Given the description of an element on the screen output the (x, y) to click on. 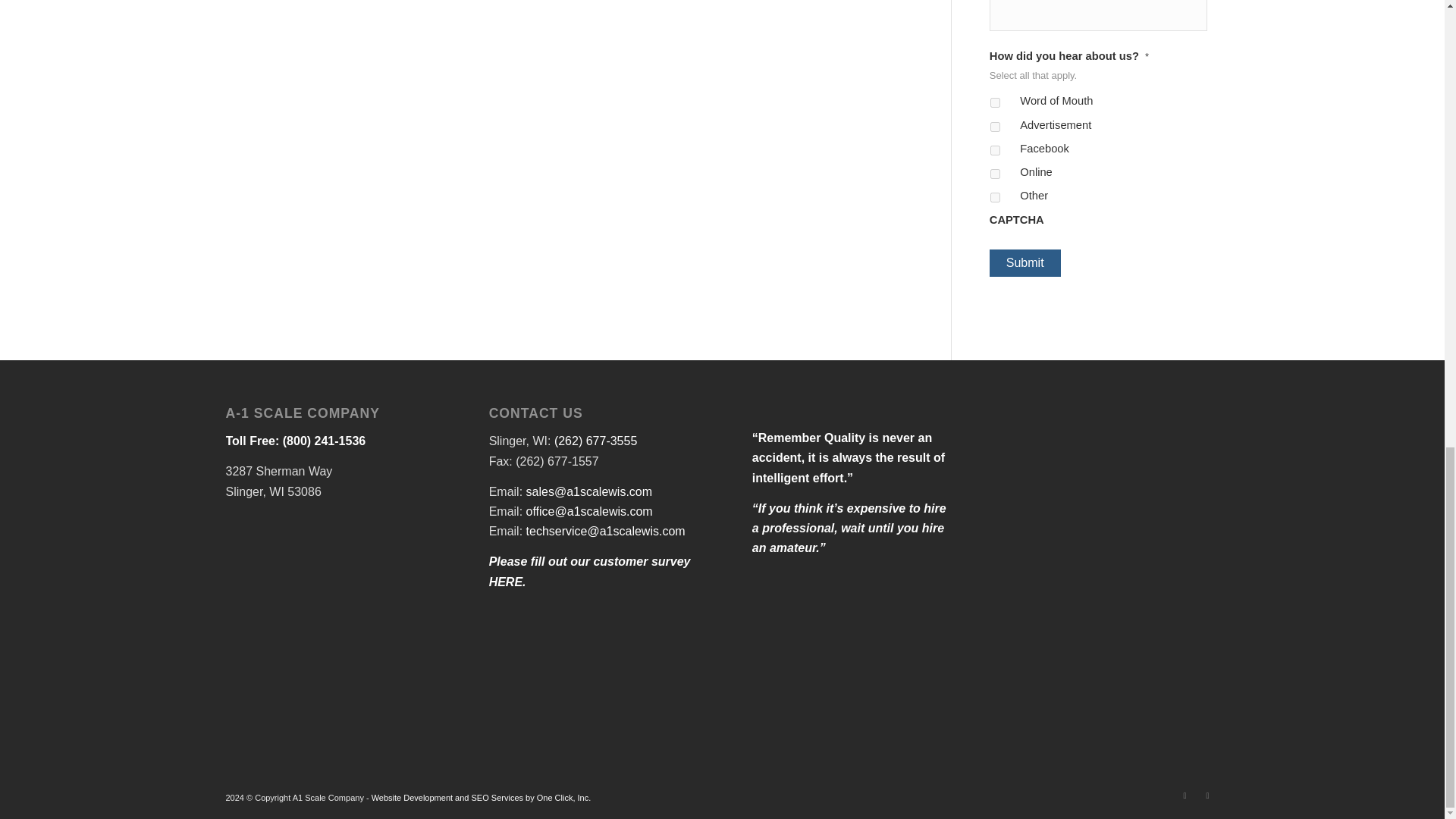
Word of Mouth (995, 102)
HERE. (507, 581)
Submit (1025, 262)
Facebook (1184, 794)
Submit (1025, 262)
LinkedIn (1208, 794)
Advertisement (995, 126)
Other (995, 197)
Online (995, 173)
Facebook (995, 150)
